Given the description of an element on the screen output the (x, y) to click on. 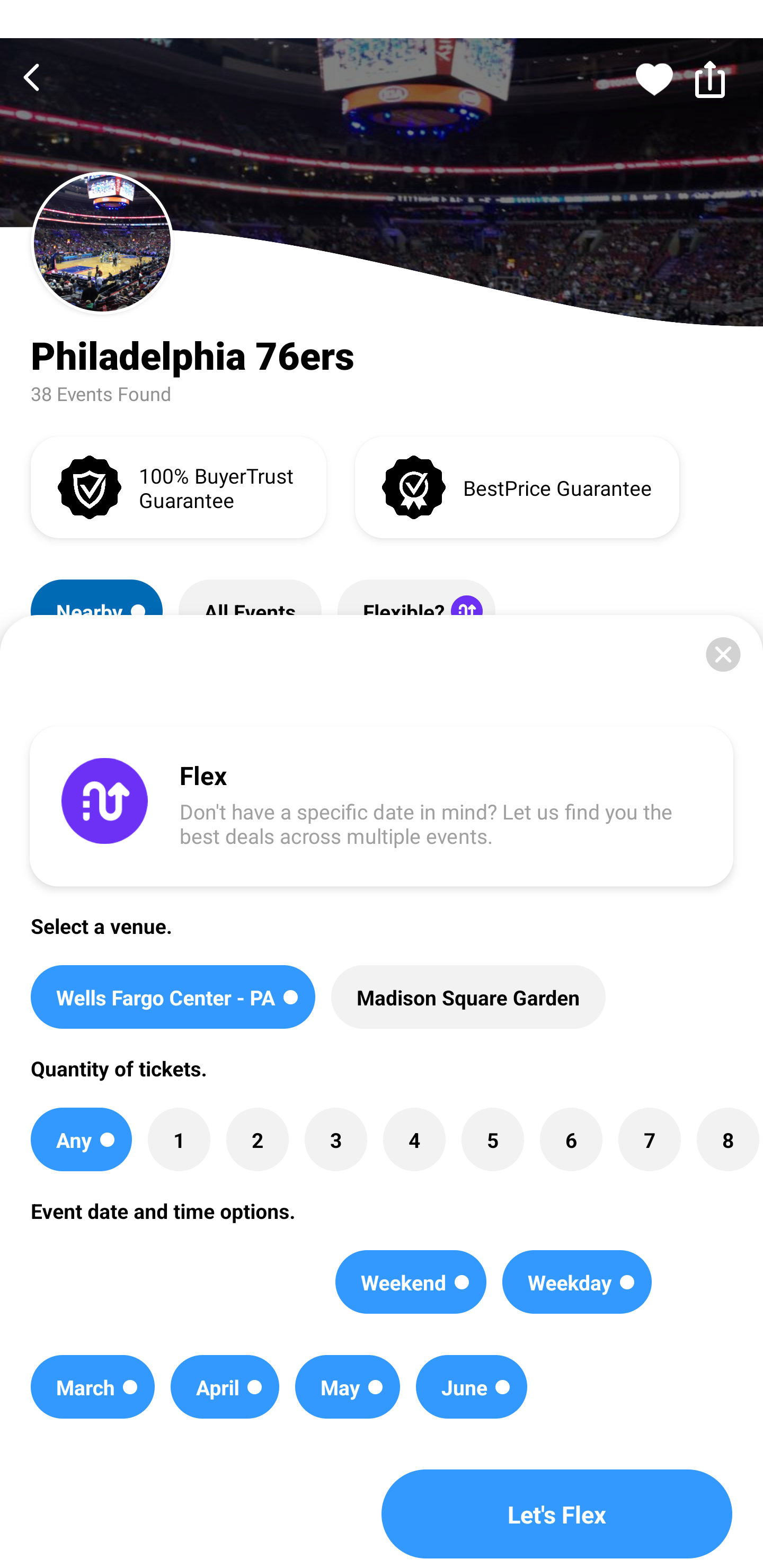
Wells Fargo Center - PA (172, 996)
Madison Square Garden (468, 996)
Any (80, 1139)
1 (179, 1139)
2 (257, 1139)
3 (335, 1139)
4 (414, 1139)
5 (492, 1139)
6 (571, 1139)
7 (649, 1139)
8 (727, 1139)
Weekend (410, 1281)
Weekday (576, 1281)
March (92, 1386)
April (224, 1386)
May (347, 1386)
June (471, 1386)
Let's Flex (556, 1513)
